Given the description of an element on the screen output the (x, y) to click on. 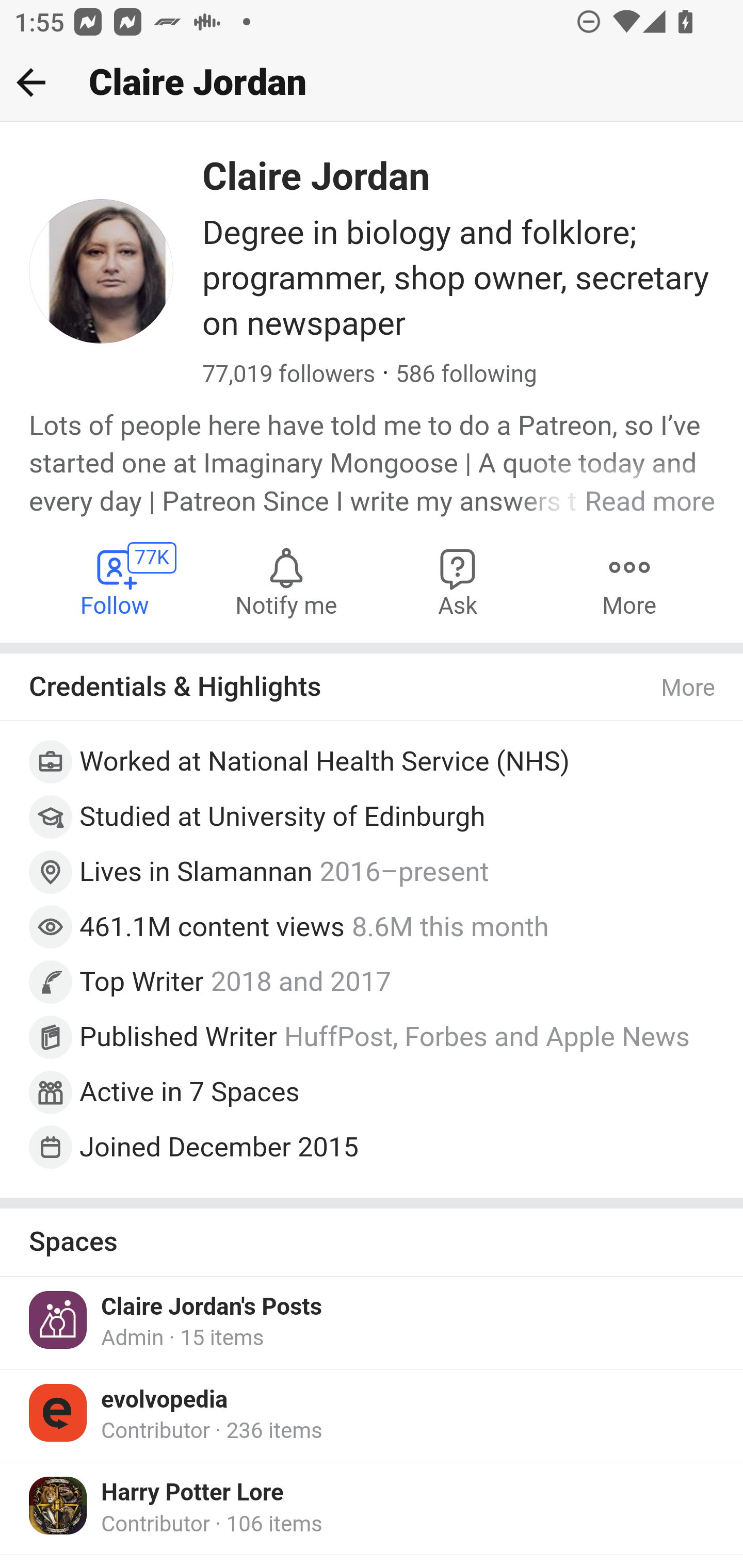
Back (30, 82)
77,019 followers (289, 374)
586 following (465, 374)
Follow Claire Jordan 77K Follow (115, 580)
Notify me (285, 580)
Ask (458, 580)
More (628, 580)
More (688, 689)
Published Writer (178, 1036)
Icon for Claire Jordan's Posts (58, 1319)
Claire Jordan's Posts (212, 1305)
Icon for evolvopedia (58, 1411)
evolvopedia (164, 1399)
Icon for Harry Potter Lore (58, 1505)
Harry Potter Lore (193, 1492)
